Given the description of an element on the screen output the (x, y) to click on. 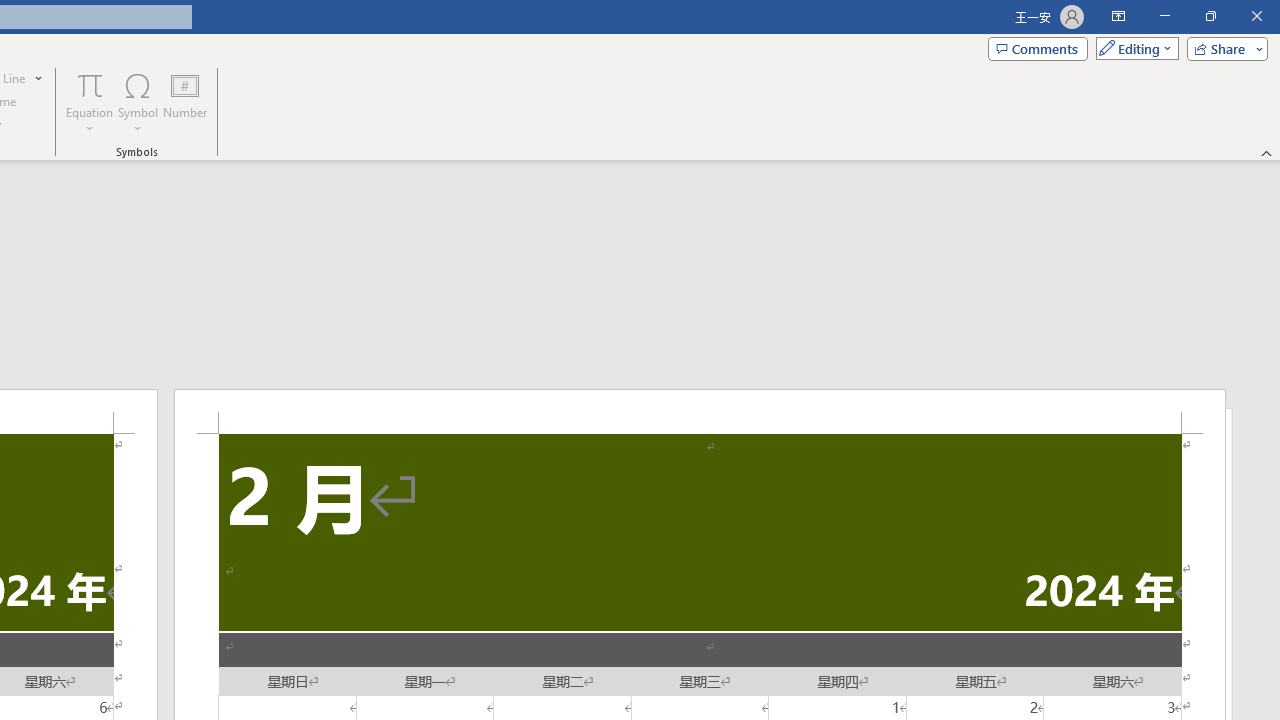
Share (1223, 48)
Ribbon Display Options (1118, 16)
Comments (1038, 48)
Minimize (1164, 16)
Number... (185, 102)
Collapse the Ribbon (1267, 152)
Mode (1133, 47)
Restore Down (1210, 16)
Symbol (138, 102)
Equation (90, 102)
Equation (90, 84)
Close (1256, 16)
Header -Section 2- (700, 411)
